Given the description of an element on the screen output the (x, y) to click on. 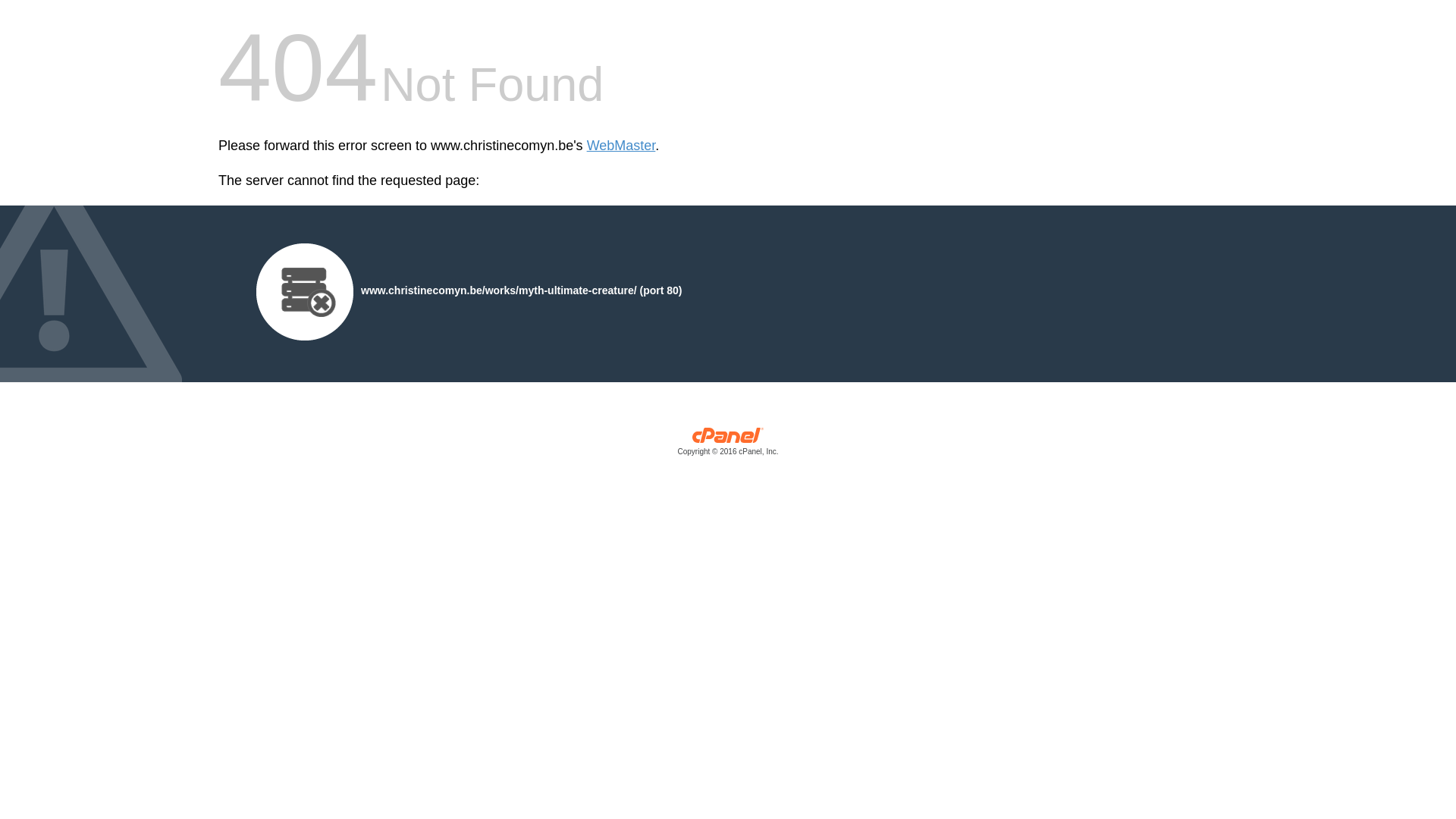
WebMaster Element type: text (620, 145)
